Given the description of an element on the screen output the (x, y) to click on. 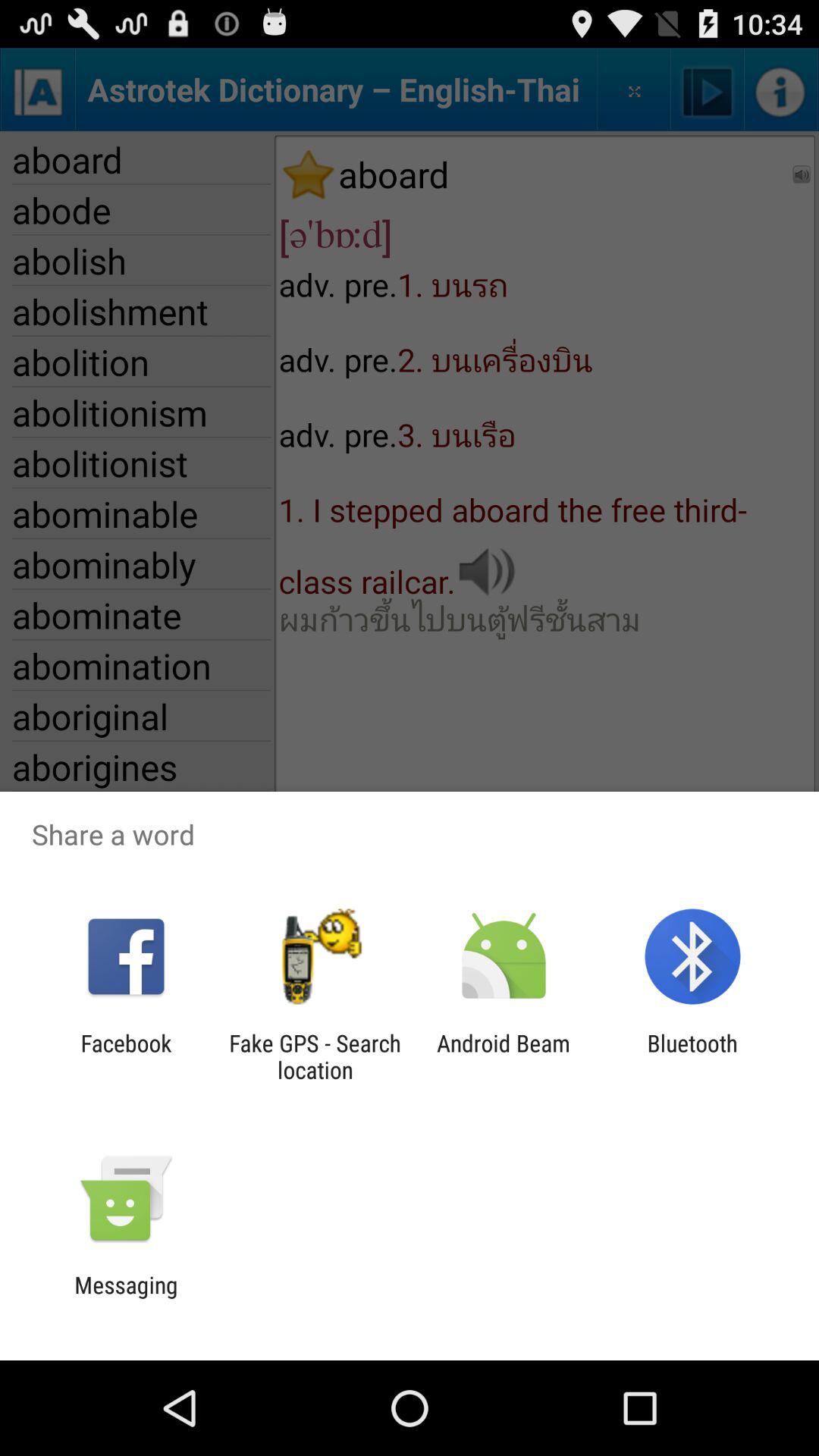
swipe to the fake gps search (314, 1056)
